Given the description of an element on the screen output the (x, y) to click on. 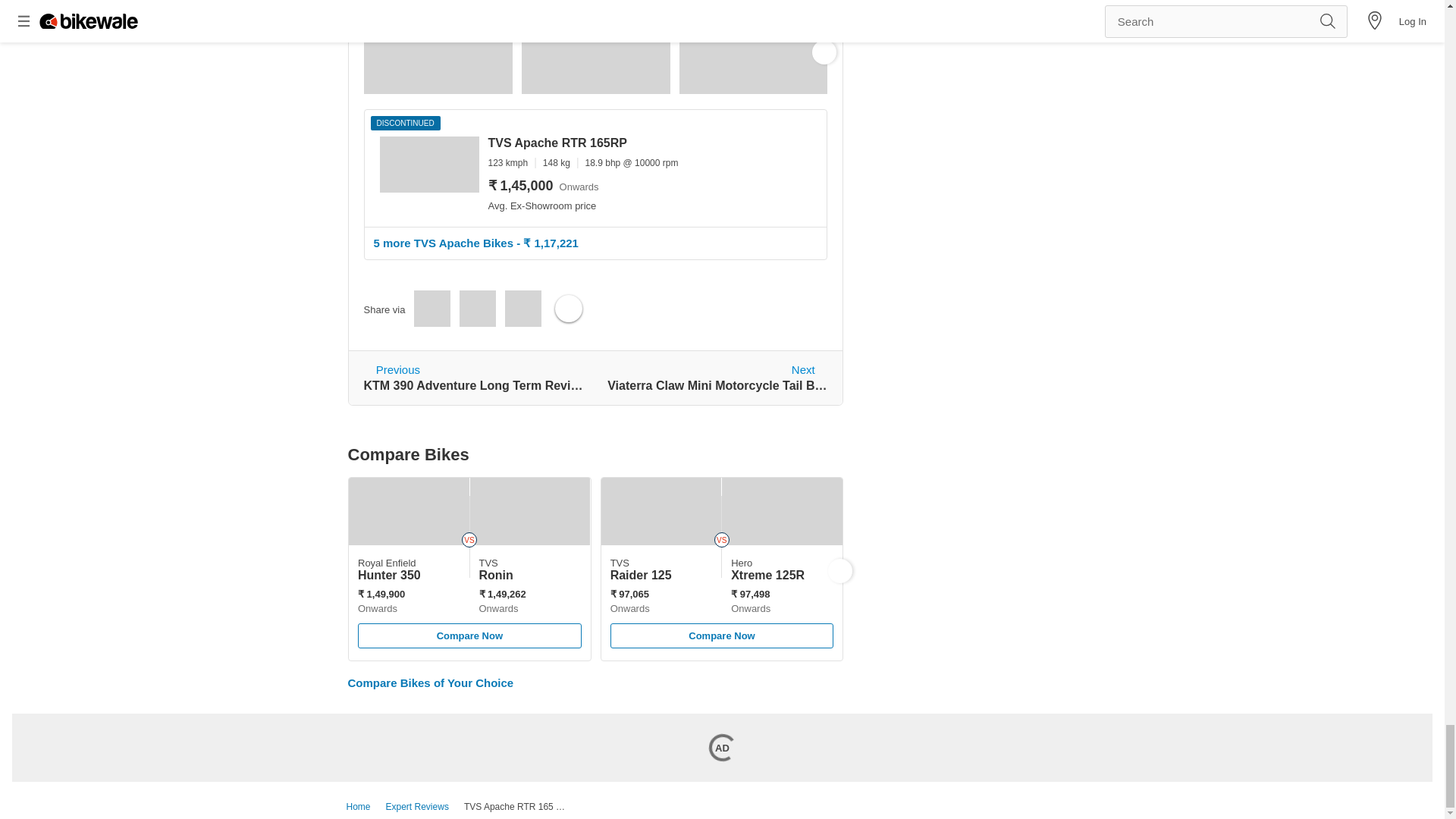
Compare Now (721, 635)
Compare Now (717, 377)
